Given the description of an element on the screen output the (x, y) to click on. 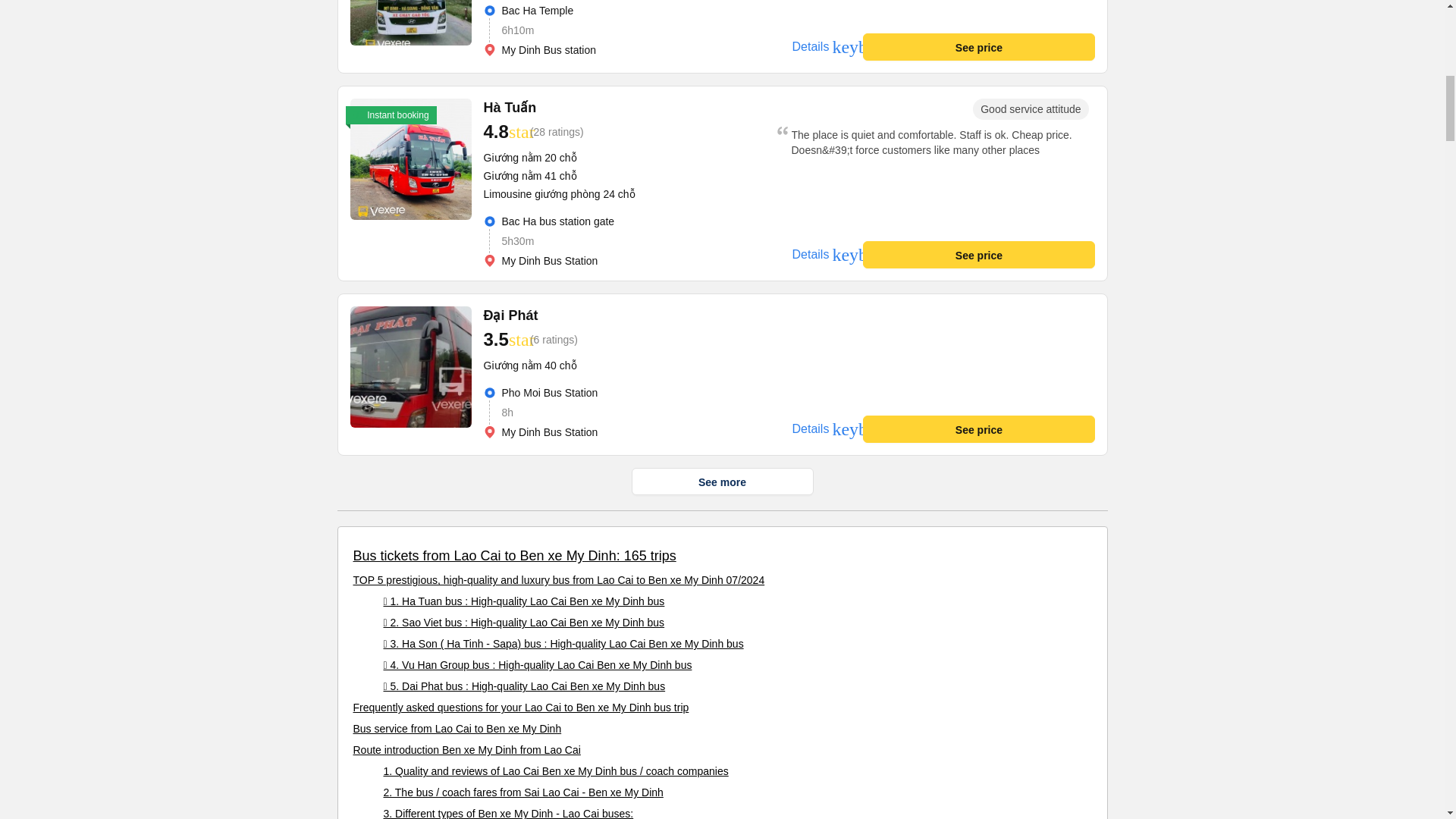
See price (978, 254)
See price (978, 429)
3. Different types of Ben xe My Dinh - Lao Cai buses: (508, 813)
Bus service from Lao Cai to Ben xe My Dinh (457, 728)
Bus tickets from Lao Cai to Ben xe My Dinh: 165 trips (515, 555)
See more (721, 481)
See price (978, 46)
Route introduction Ben xe My Dinh from Lao Cai (466, 749)
